Given the description of an element on the screen output the (x, y) to click on. 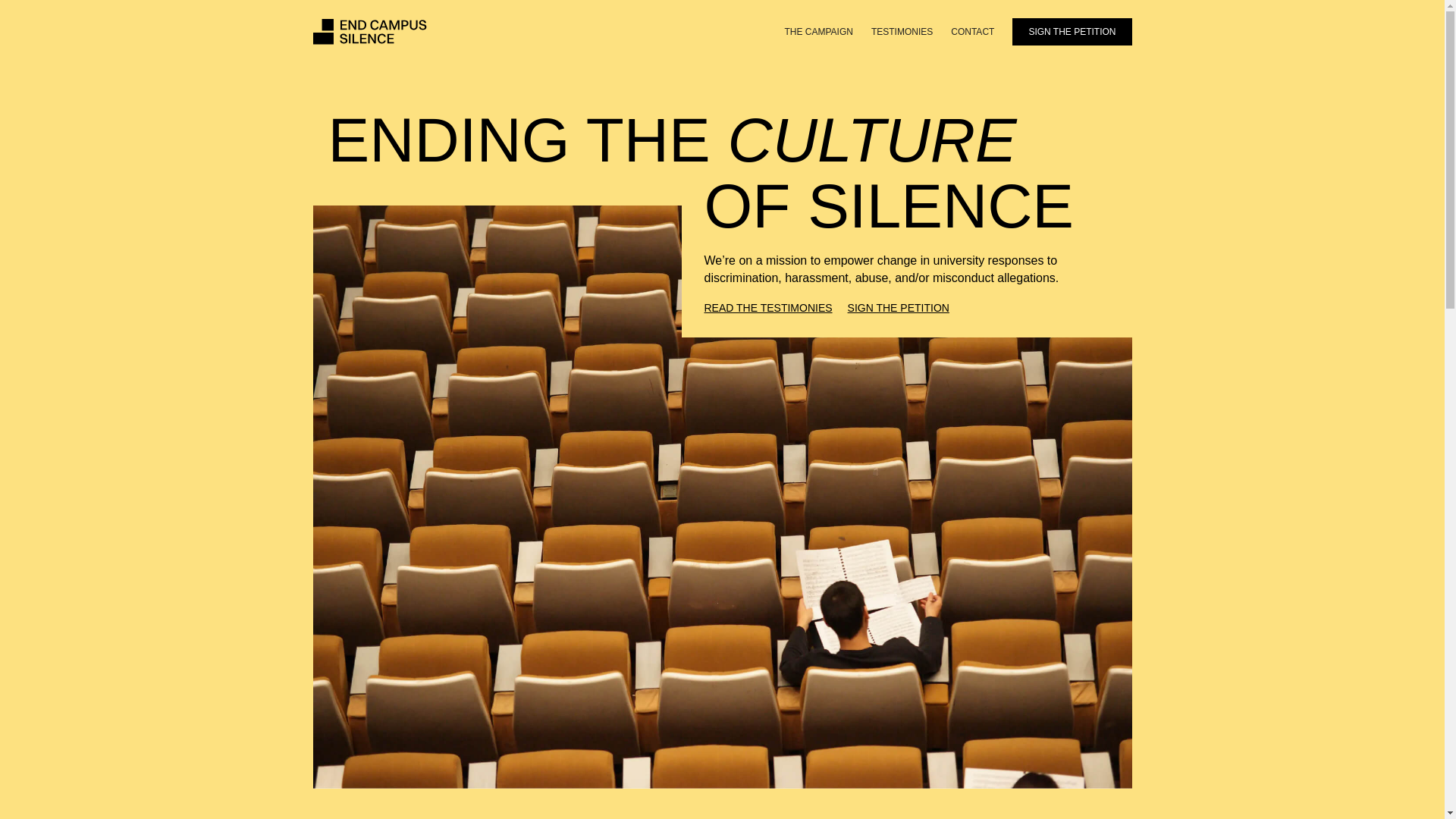
TESTIMONIES (901, 31)
SIGN THE PETITION (898, 308)
READ THE TESTIMONIES (767, 308)
SIGN THE PETITION (1071, 31)
CONTACT (972, 31)
THE CAMPAIGN (817, 31)
